Given the description of an element on the screen output the (x, y) to click on. 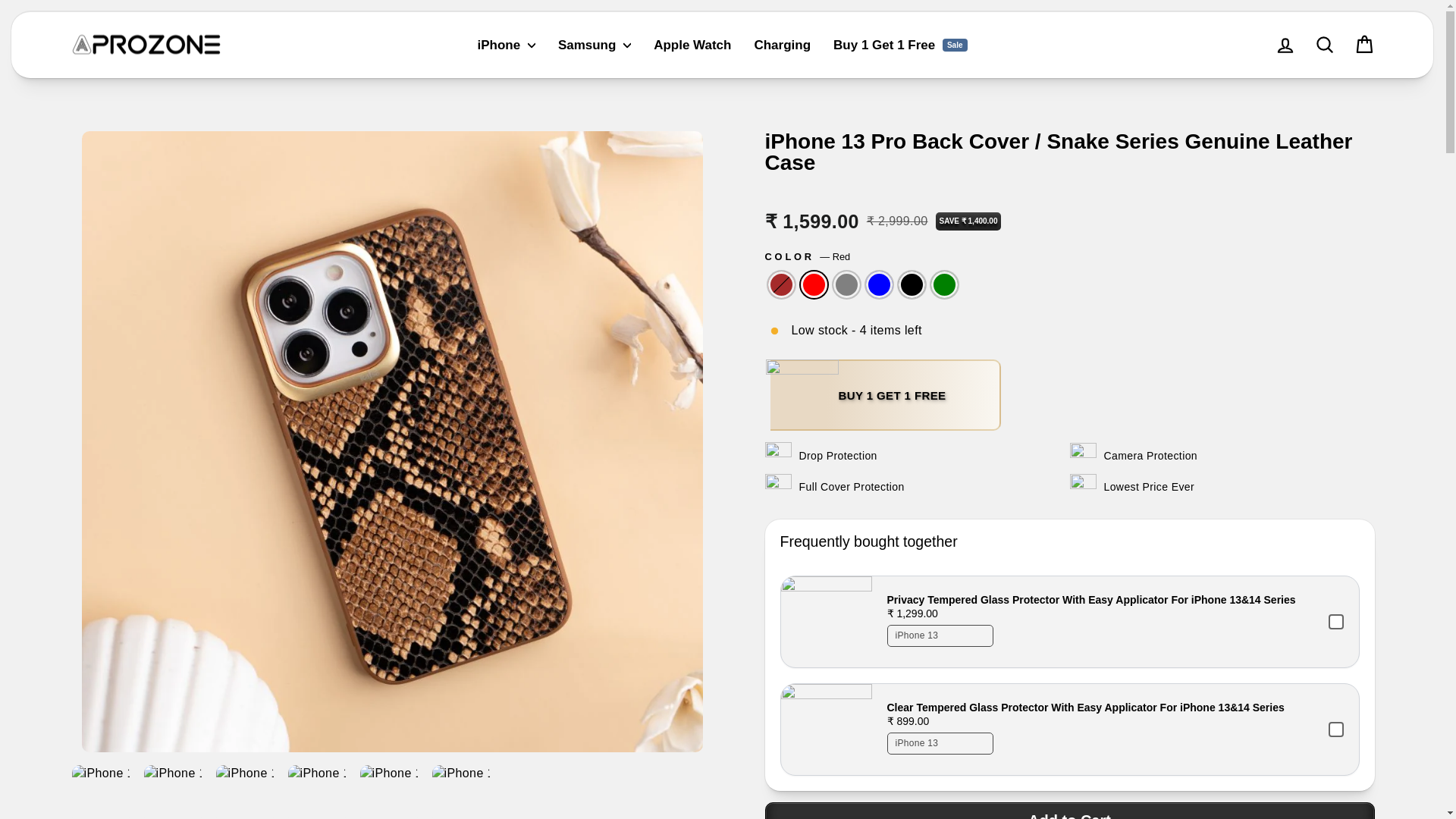
account (1284, 45)
icon-search (1324, 44)
